Given the description of an element on the screen output the (x, y) to click on. 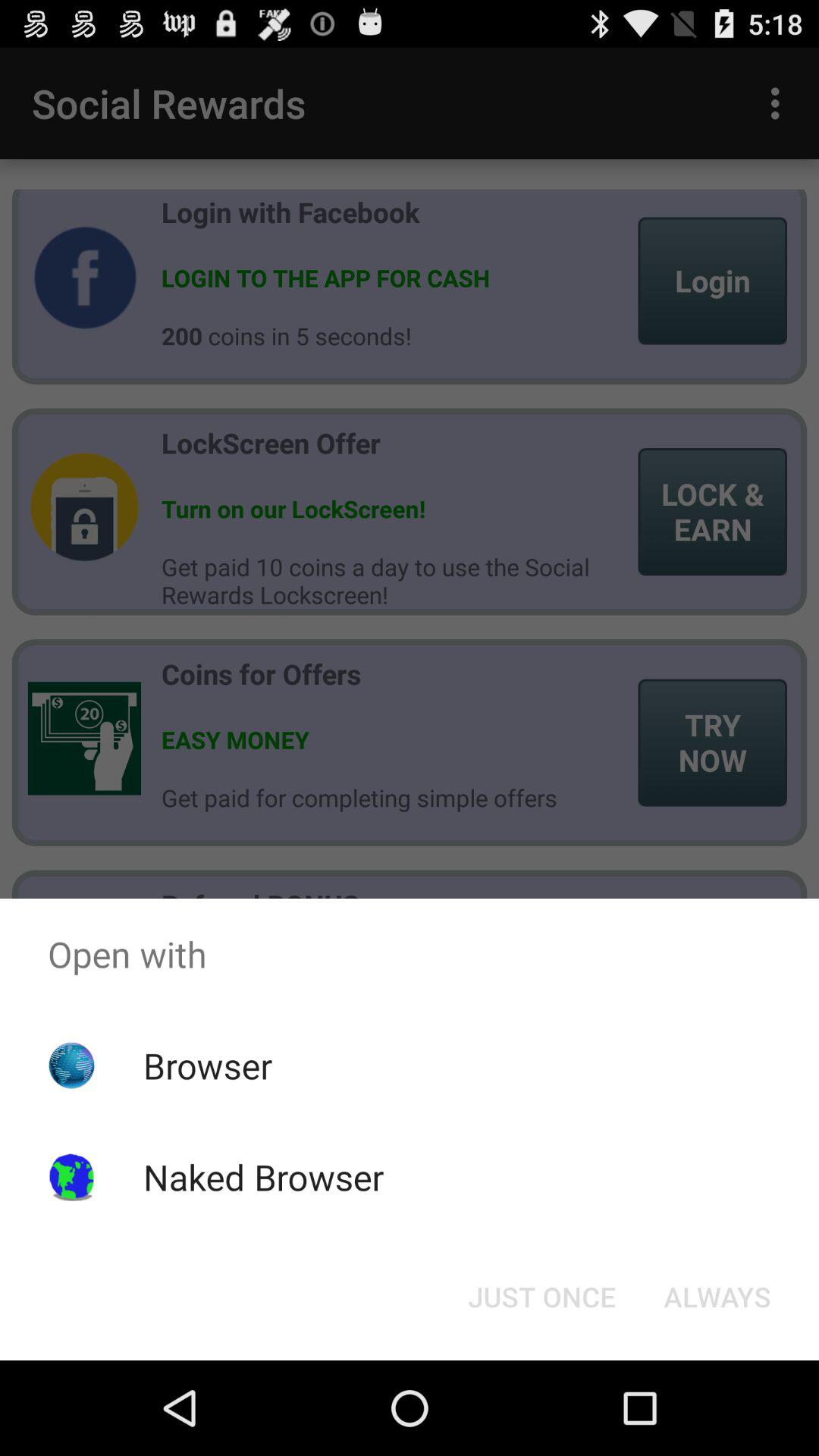
open the icon below open with icon (717, 1296)
